Given the description of an element on the screen output the (x, y) to click on. 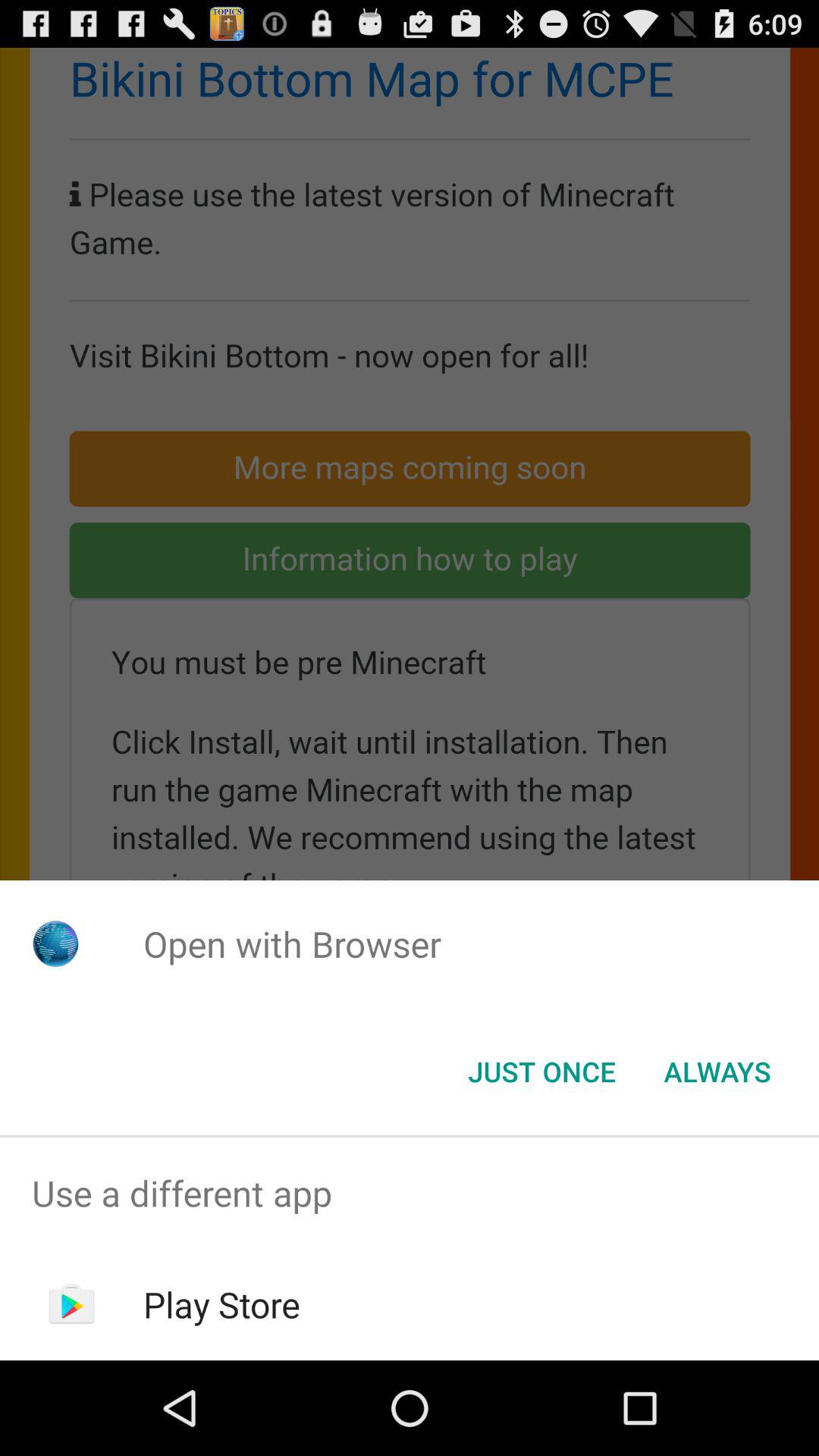
press item next to just once (717, 1071)
